Given the description of an element on the screen output the (x, y) to click on. 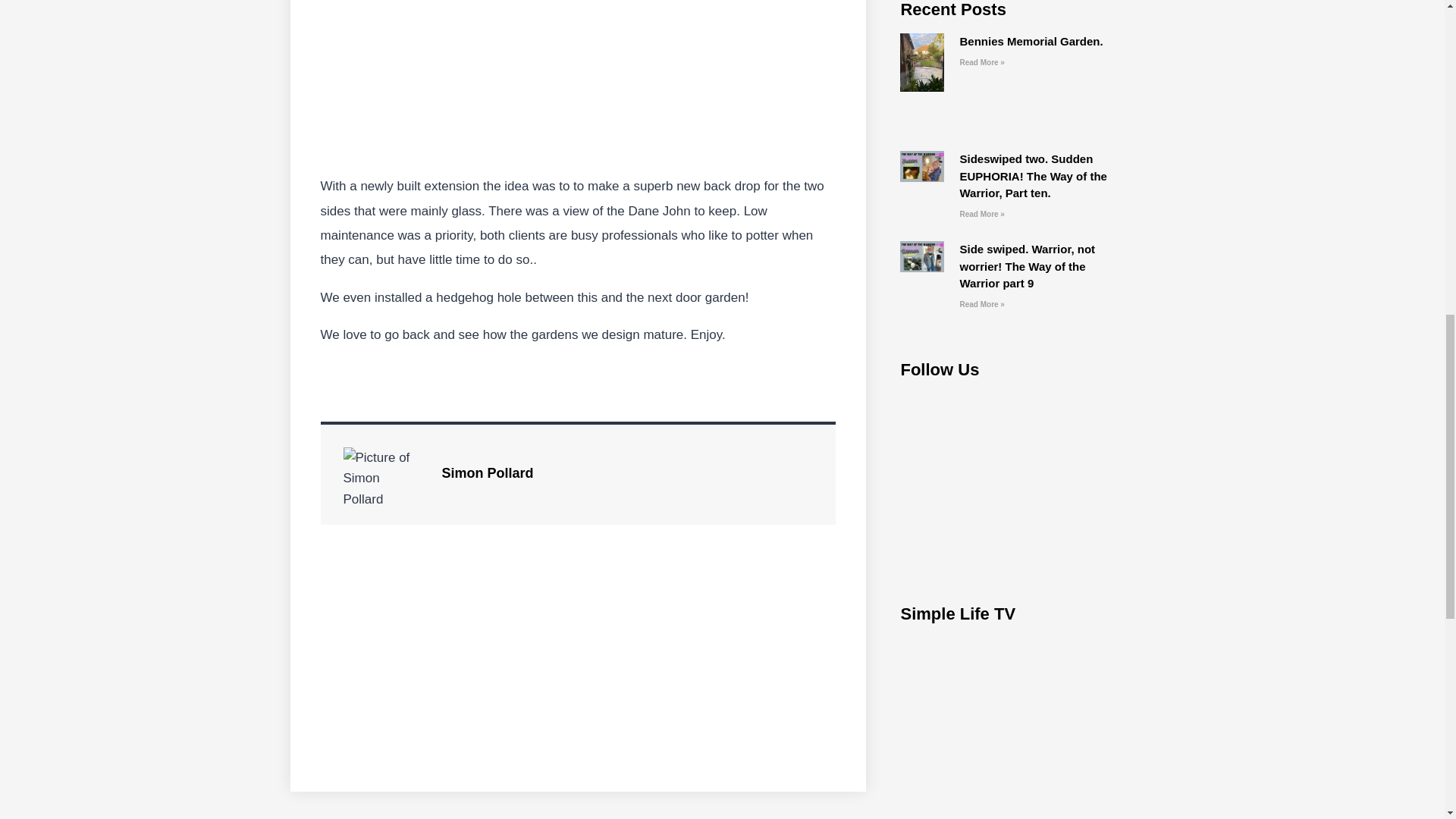
Bennies Memorial Garden. (1030, 41)
